Given the description of an element on the screen output the (x, y) to click on. 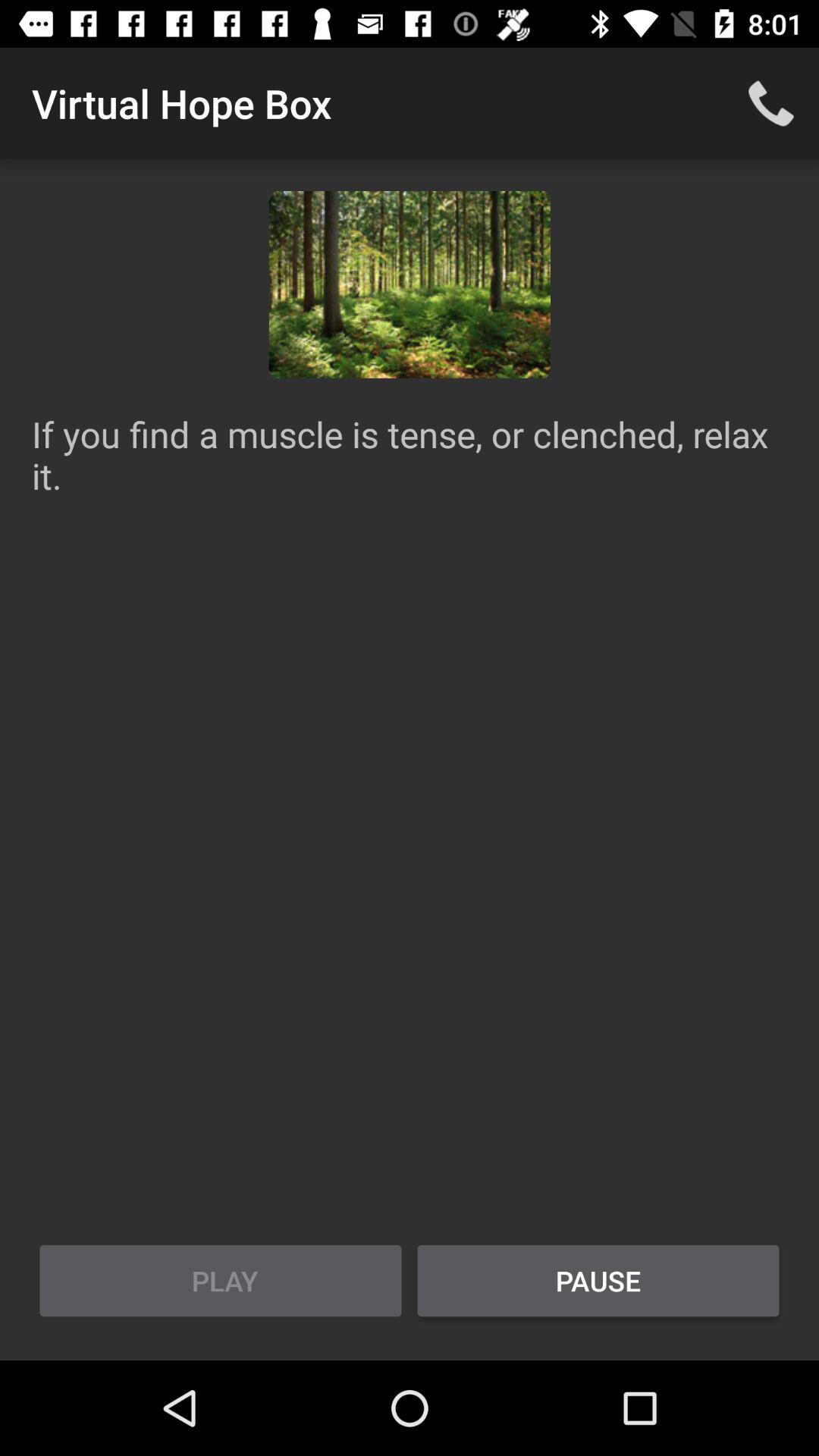
turn on the icon to the right of the virtual hope box app (771, 103)
